Given the description of an element on the screen output the (x, y) to click on. 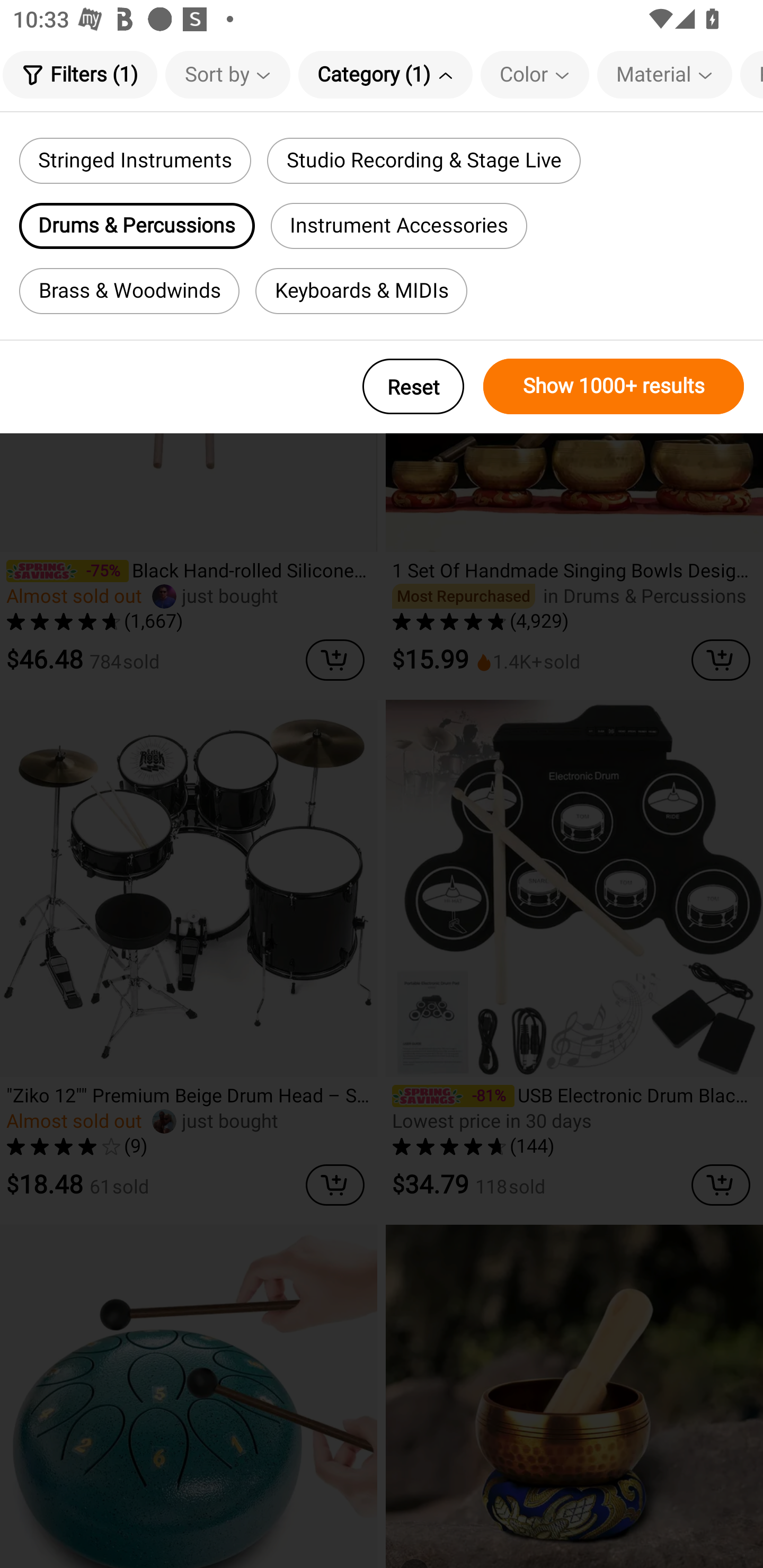
Filters (1) (79, 74)
Sort by (227, 74)
Category (1) (385, 74)
Color (534, 74)
Material (664, 74)
Stringed Instruments (135, 160)
Studio Recording & Stage Live (423, 160)
Drums & Percussions (136, 225)
Instrument Accessories (398, 225)
Brass & Woodwinds (129, 290)
Keyboards & MIDIs (360, 290)
Reset (412, 386)
Show 1000+ results (612, 386)
